Given the description of an element on the screen output the (x, y) to click on. 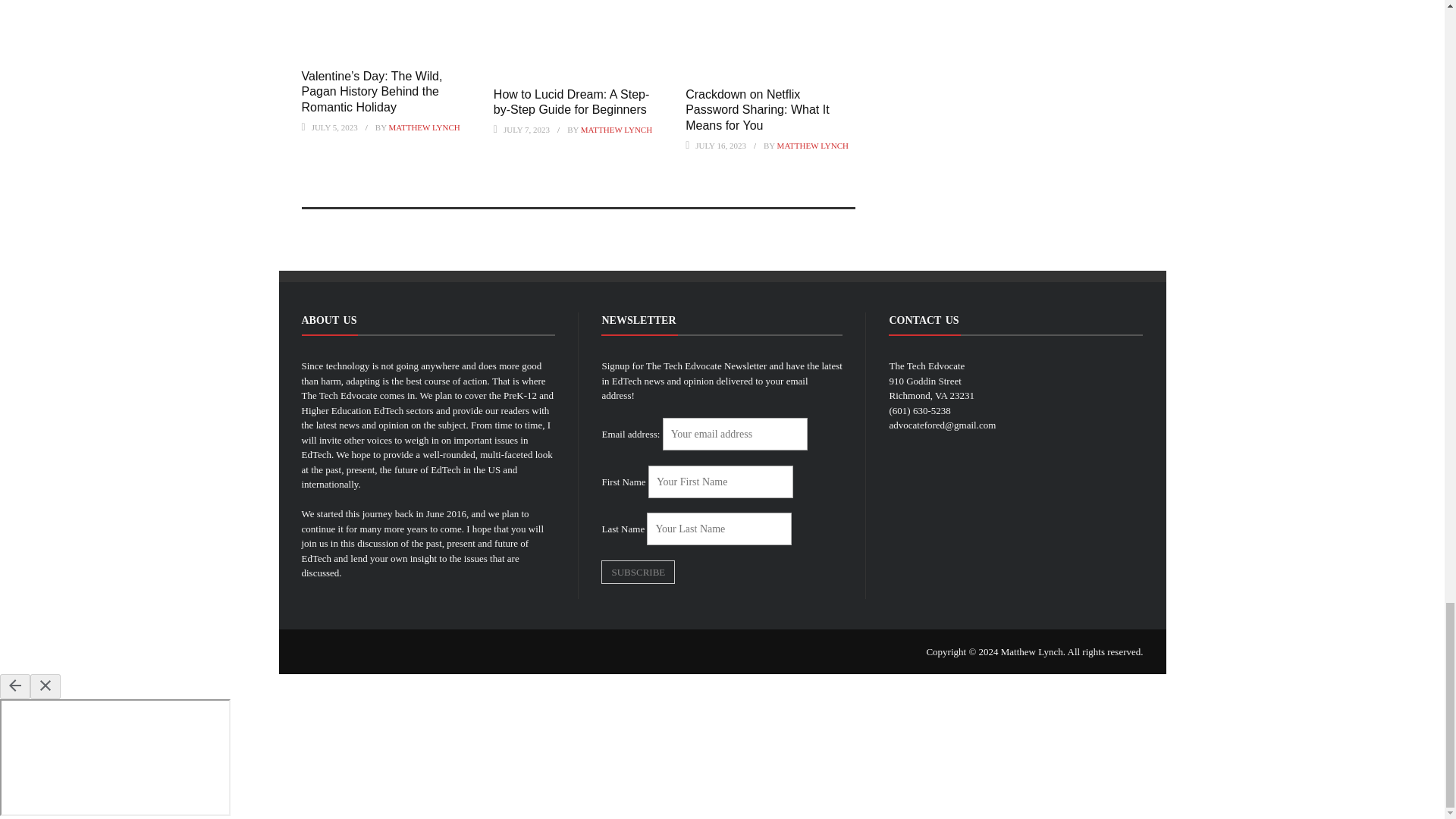
Subscribe (638, 571)
